Given the description of an element on the screen output the (x, y) to click on. 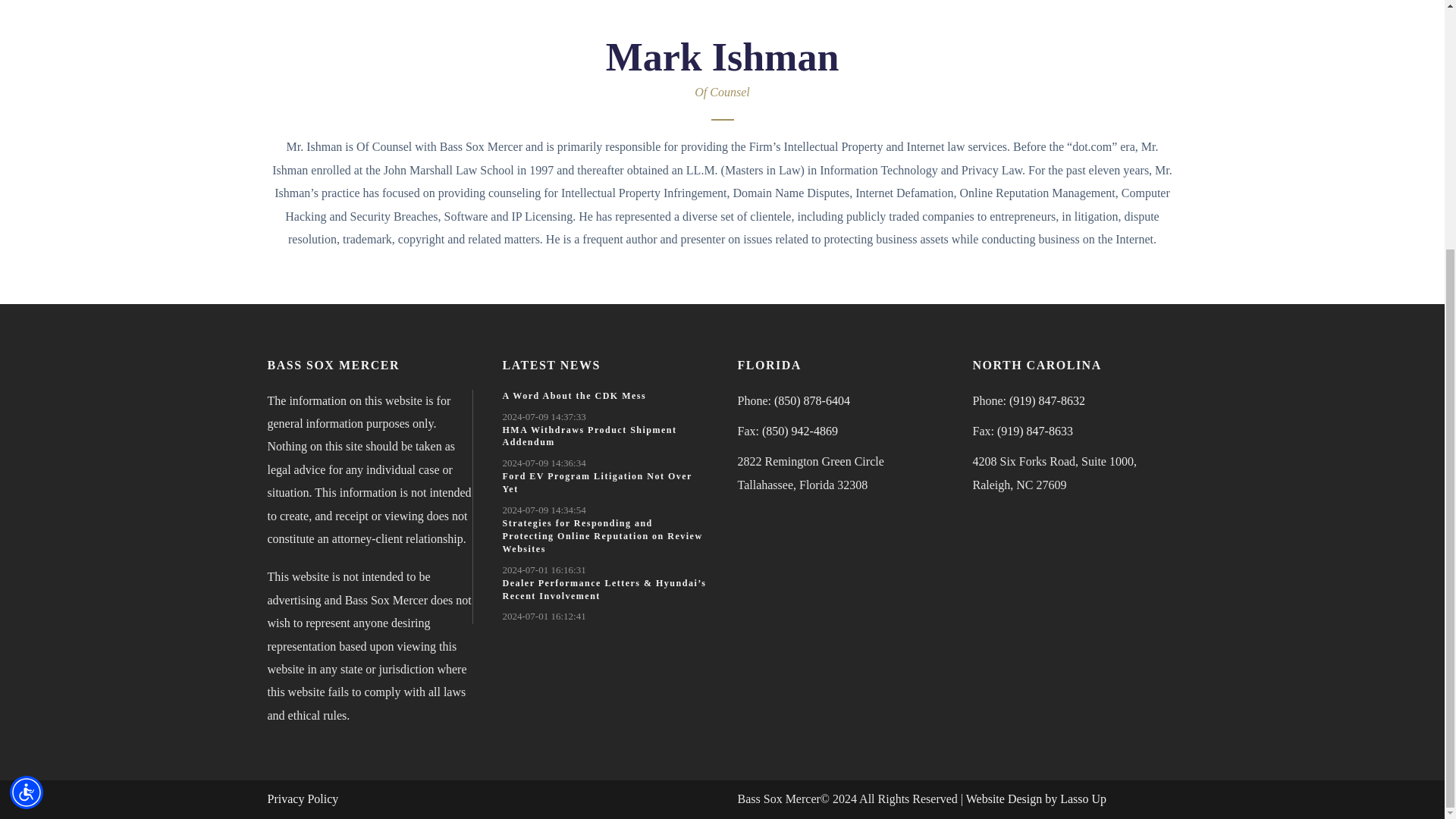
Privacy Policy (301, 798)
Ford EV Program Litigation Not Over Yet (596, 482)
HMA Withdraws Product Shipment Addendum (589, 436)
Website Design by Lasso Up (1036, 798)
A Word About the CDK Mess (574, 395)
Accessibility Menu (26, 442)
